Given the description of an element on the screen output the (x, y) to click on. 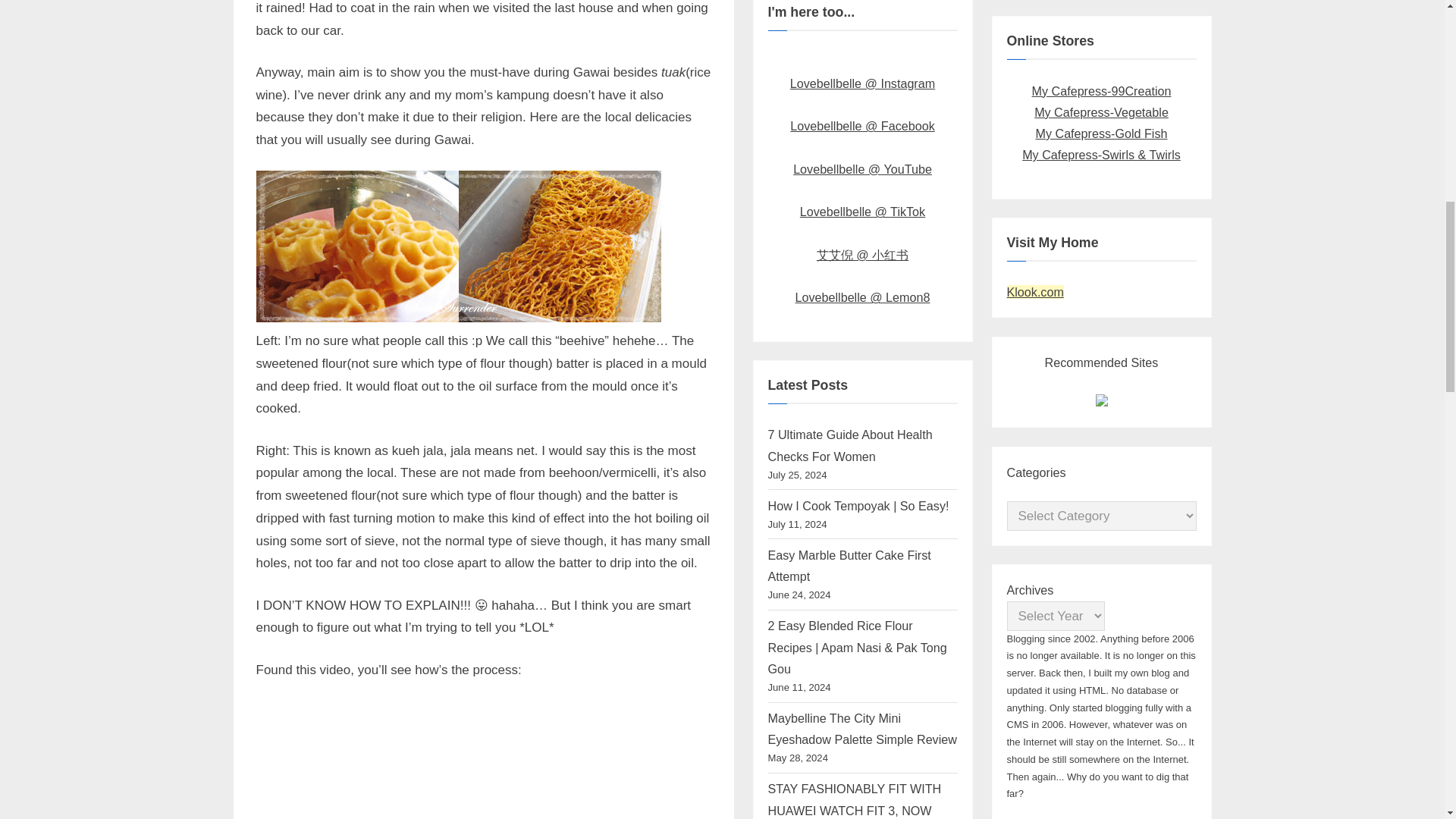
7 Ultimate Guide About Health Checks For Women (849, 444)
Easy Marble Butter Cake First Attempt (848, 565)
